Given the description of an element on the screen output the (x, y) to click on. 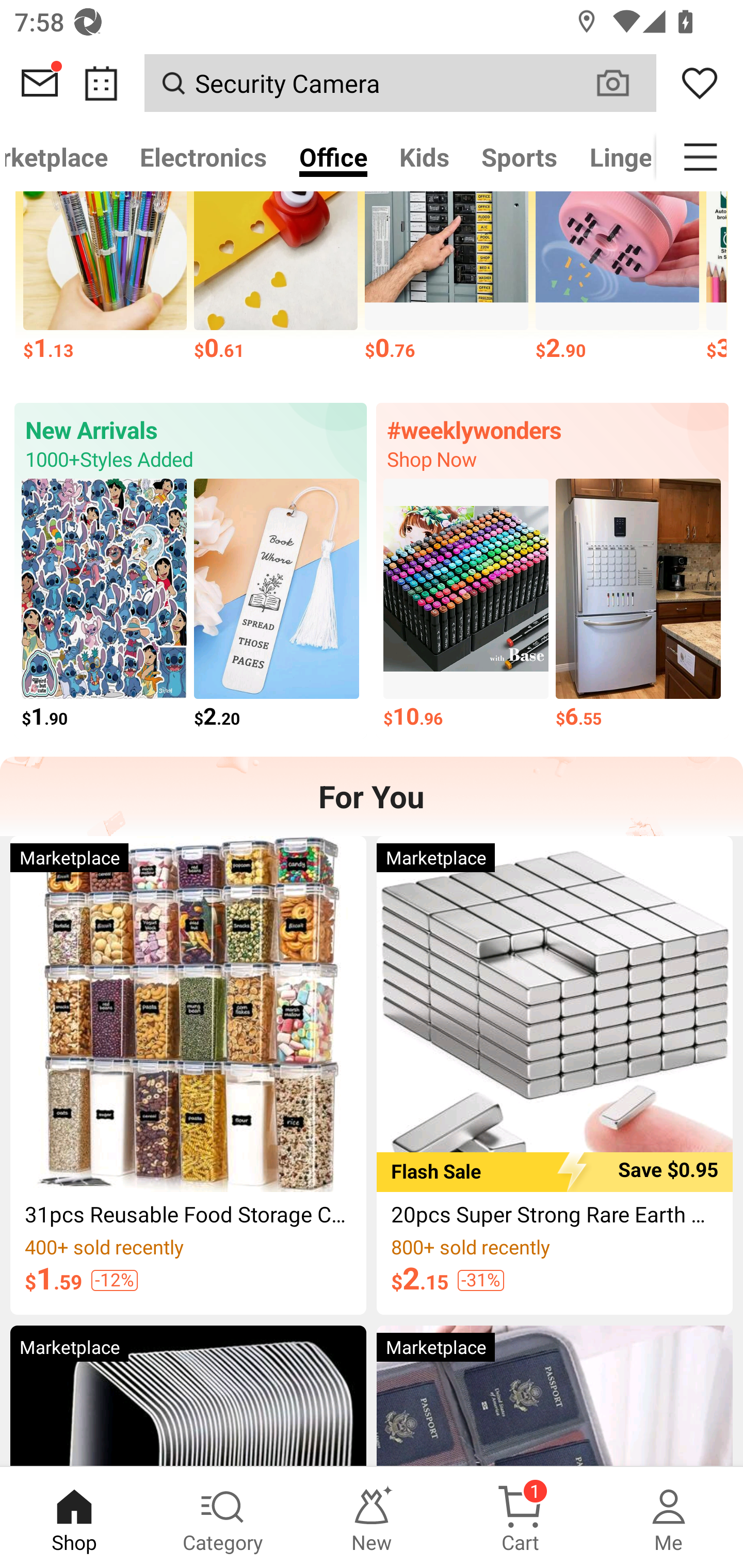
Wishlist (699, 82)
VISUAL SEARCH (623, 82)
Marketplace (62, 156)
Electronics (203, 156)
Office (333, 156)
Kids (424, 156)
Sports (519, 156)
Lingerie & Sleep (614, 156)
$1.90 Price $1.90 (103, 604)
$2.20 Price $2.20 (276, 604)
$10.96 Price $10.96 (465, 604)
$6.55 Price $6.55 (638, 604)
Category (222, 1517)
New (371, 1517)
Cart 1 Cart (519, 1517)
Me (668, 1517)
